Given the description of an element on the screen output the (x, y) to click on. 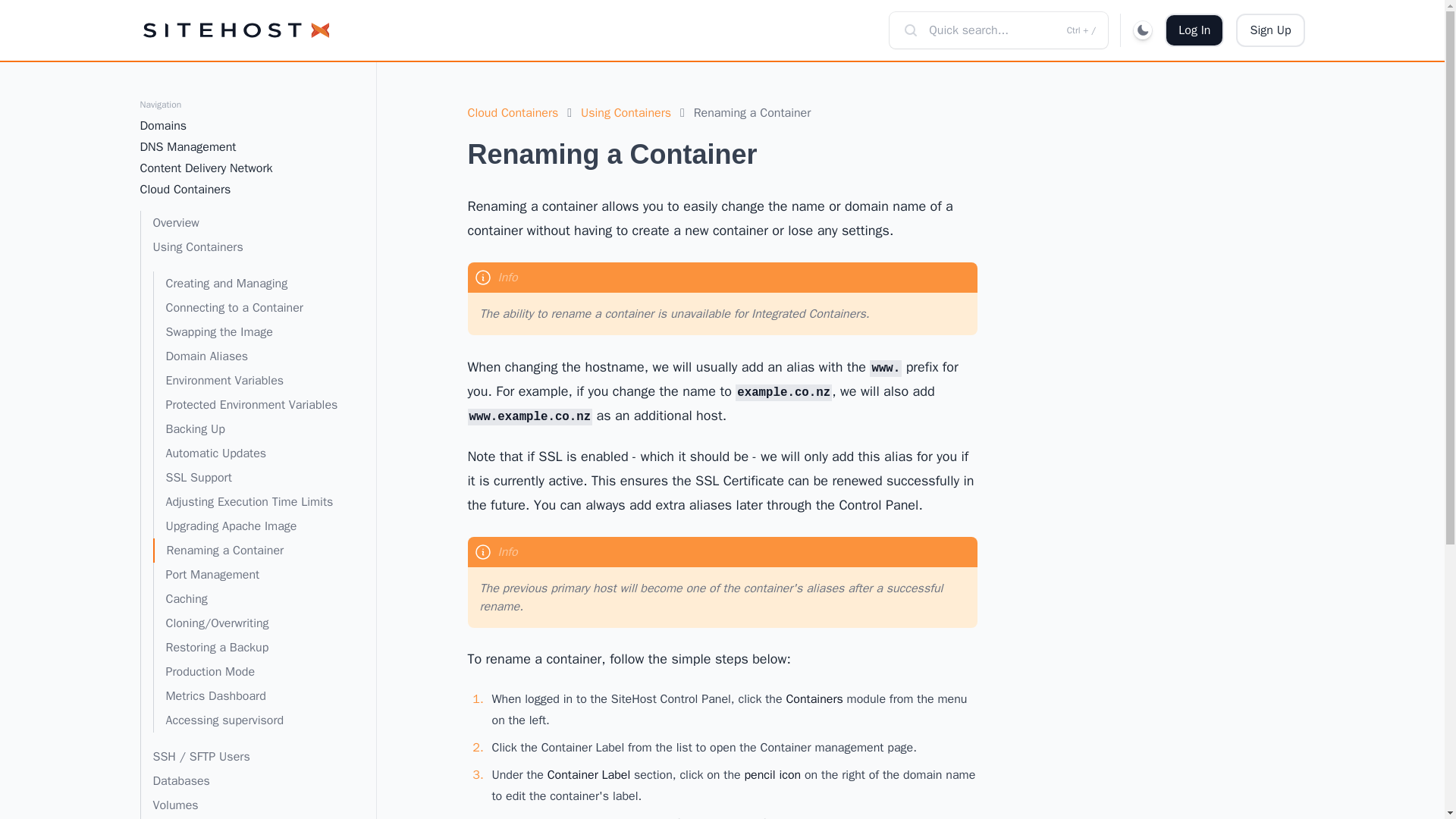
Log In (1194, 29)
SiteHost (235, 29)
Sign up (1270, 29)
Sign Up (1270, 29)
Domains (239, 126)
Log In (1194, 29)
SiteHost (235, 29)
DNS Management (239, 147)
